Given the description of an element on the screen output the (x, y) to click on. 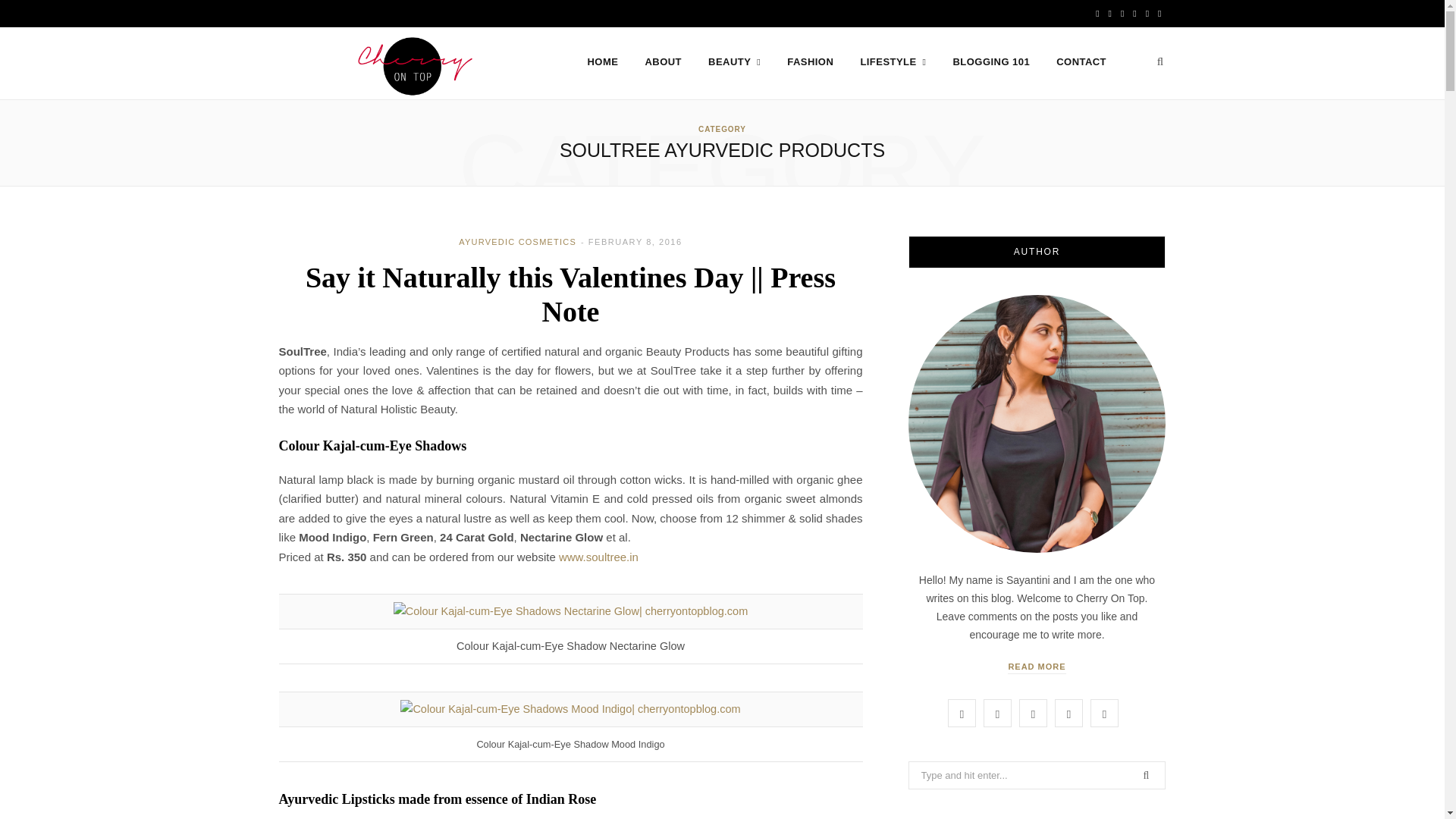
AYURVEDIC COSMETICS (517, 241)
BEAUTY (734, 61)
www.soultree.in (599, 556)
LIFESTYLE (892, 61)
BLOGGING 101 (992, 61)
CONTACT (1081, 61)
FEBRUARY 8, 2016 (635, 241)
FASHION (810, 61)
